Given the description of an element on the screen output the (x, y) to click on. 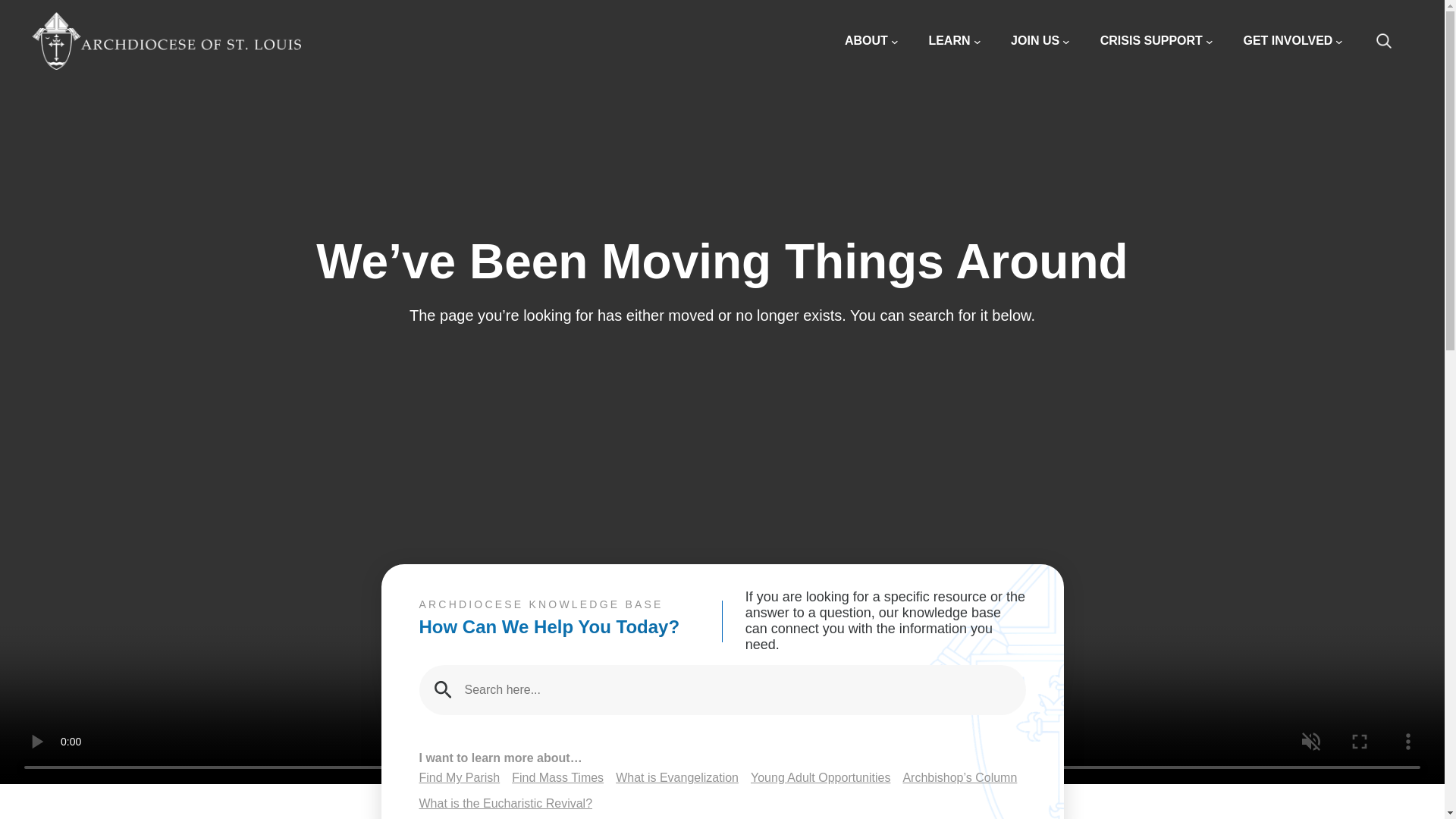
ABOUT (871, 40)
JOIN US (1040, 40)
LEARN (953, 40)
CRISIS SUPPORT (1156, 40)
GET INVOLVED (1292, 40)
search (1392, 40)
